Given the description of an element on the screen output the (x, y) to click on. 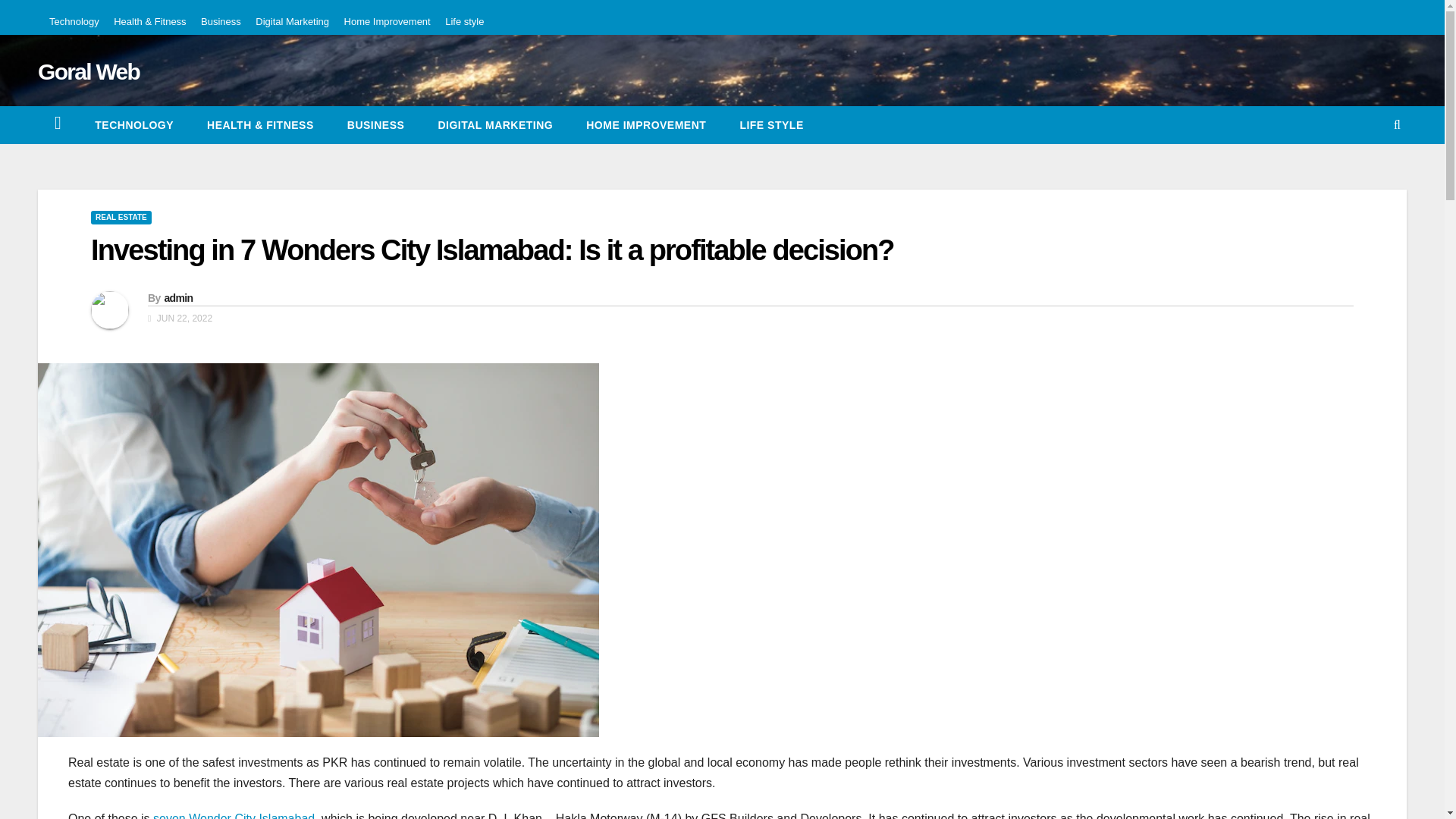
Digital Marketing (292, 21)
Life style (464, 21)
REAL ESTATE (120, 217)
Technology (134, 125)
Home Improvement (386, 21)
DIGITAL MARKETING (494, 125)
Life style (770, 125)
seven Wonder City Islamabad (233, 815)
Home Improvement (645, 125)
Digital Marketing (494, 125)
LIFE STYLE (770, 125)
BUSINESS (376, 125)
HOME IMPROVEMENT (645, 125)
